Given the description of an element on the screen output the (x, y) to click on. 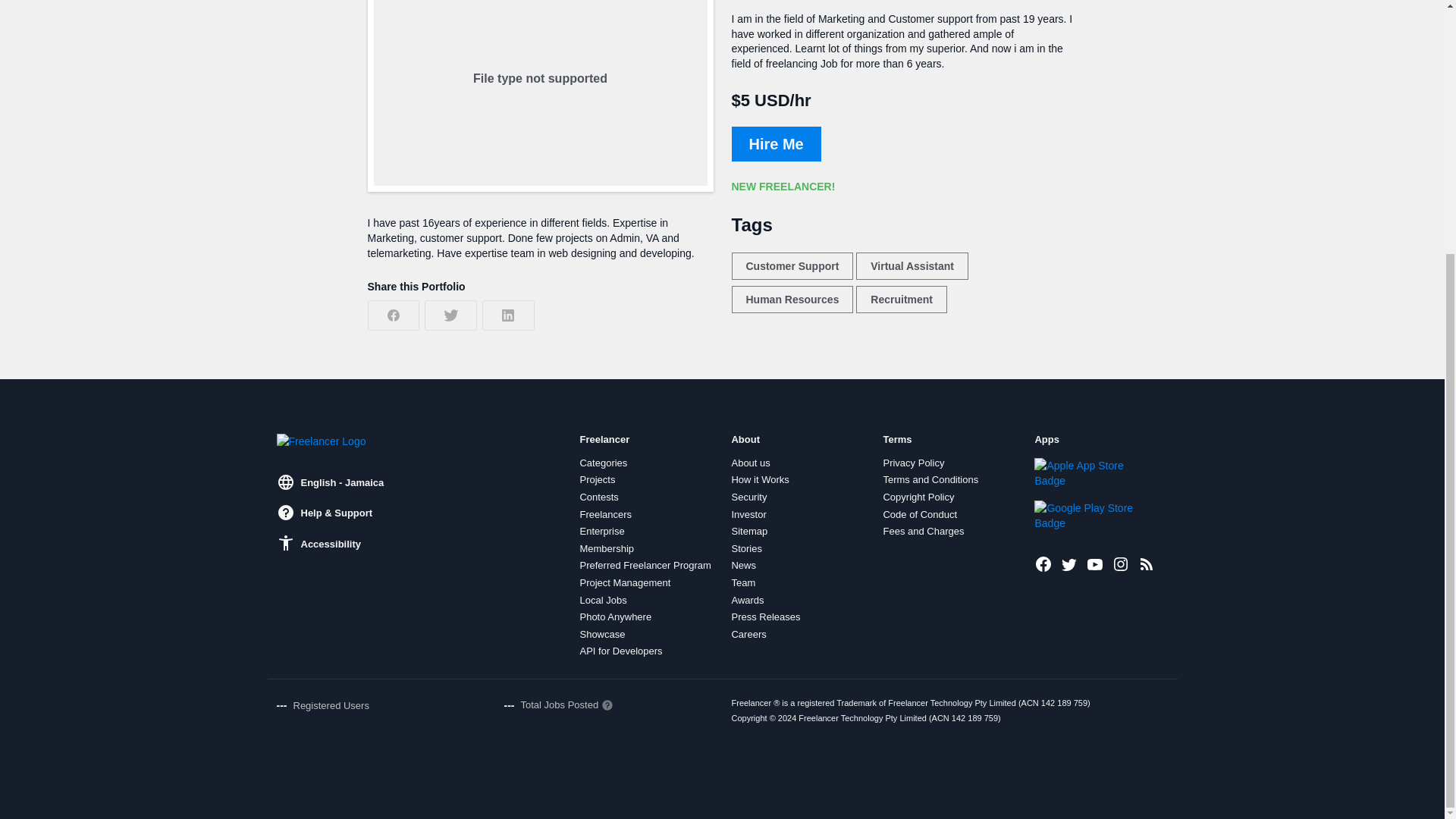
Local Jobs (602, 600)
Categories (603, 463)
How it Works (759, 480)
Get it on Google Play (1085, 515)
Freelancer on Youtube (1094, 564)
News (742, 565)
Projects (596, 480)
Contests (598, 497)
Latest Projects (1146, 564)
Human Resources (791, 298)
